Given the description of an element on the screen output the (x, y) to click on. 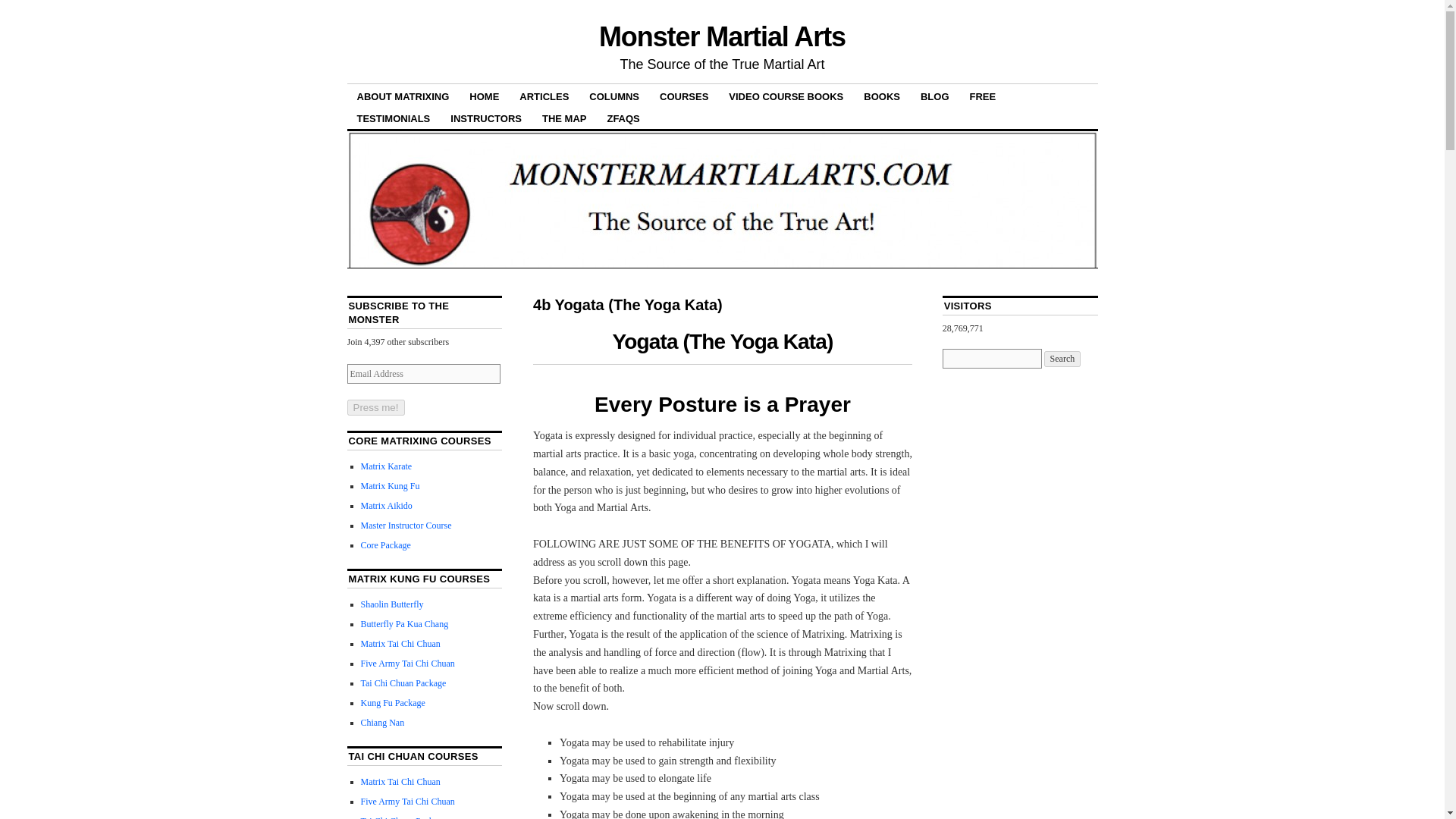
ARTICLES (543, 96)
INSTRUCTORS (486, 117)
HOME (484, 96)
Monster Martial Arts (721, 36)
Monster Martial Arts (721, 36)
BOOKS (881, 96)
ZFAQS (622, 117)
Matrix Karate (386, 466)
Search (1062, 358)
TESTIMONIALS (394, 117)
